Given the description of an element on the screen output the (x, y) to click on. 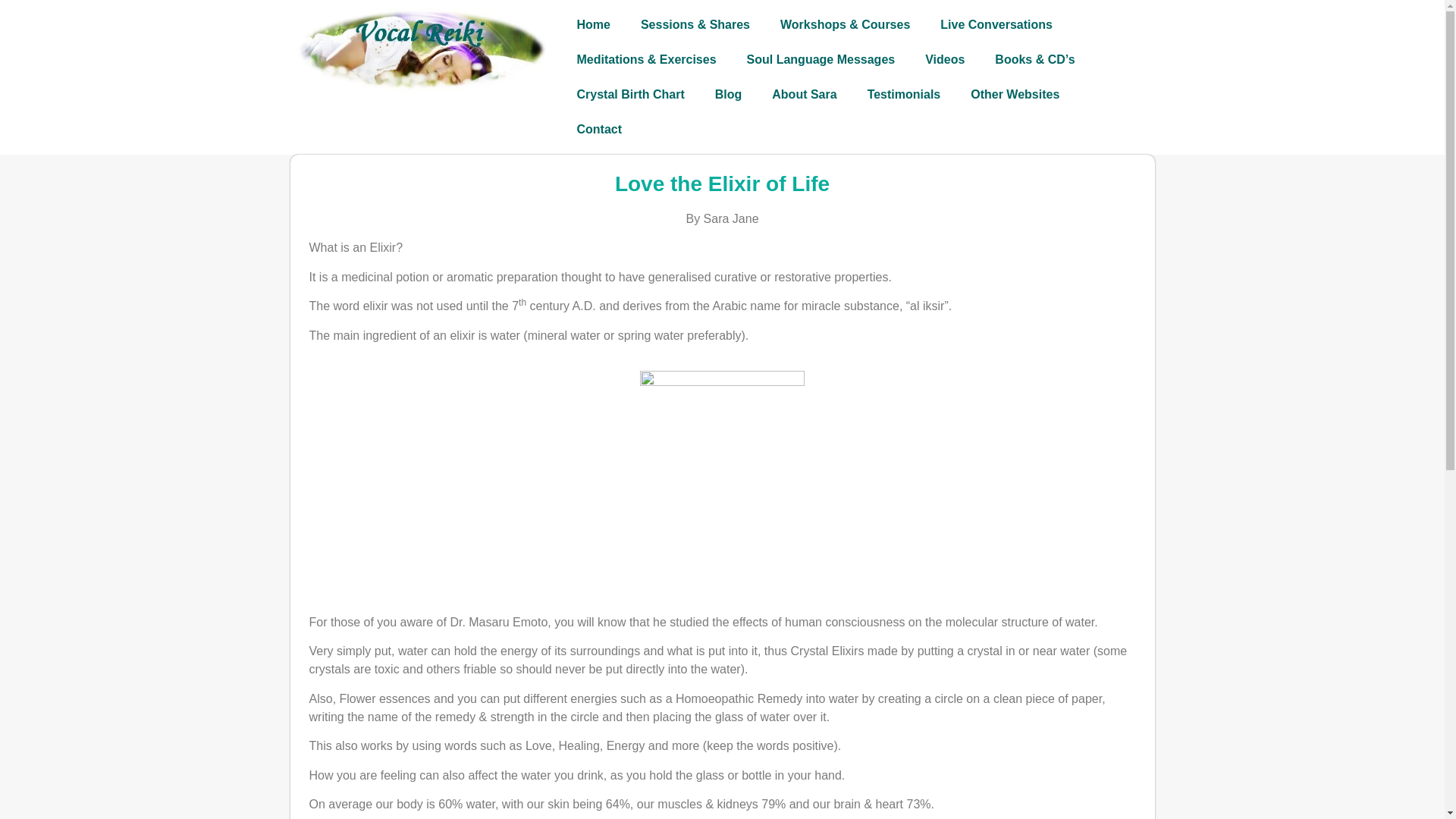
Home (592, 24)
Testimonials (903, 94)
Crystal Birth Chart (629, 94)
Videos (944, 59)
Other Websites (1014, 94)
Blog (728, 94)
Live Conversations (995, 24)
About Sara (804, 94)
Soul Language Messages (821, 59)
Contact (598, 129)
